Given the description of an element on the screen output the (x, y) to click on. 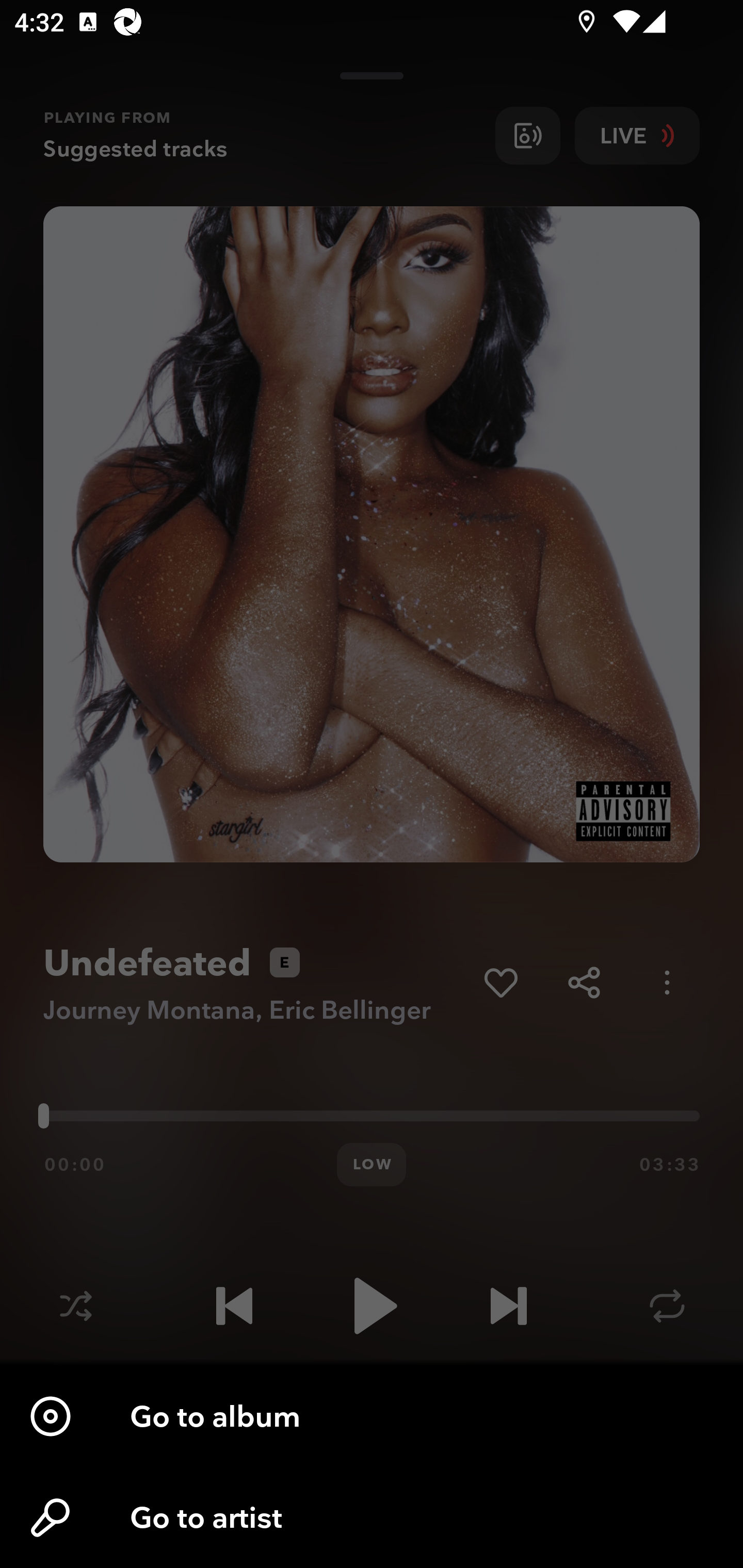
Go to album (371, 1416)
Go to artist (371, 1517)
